Given the description of an element on the screen output the (x, y) to click on. 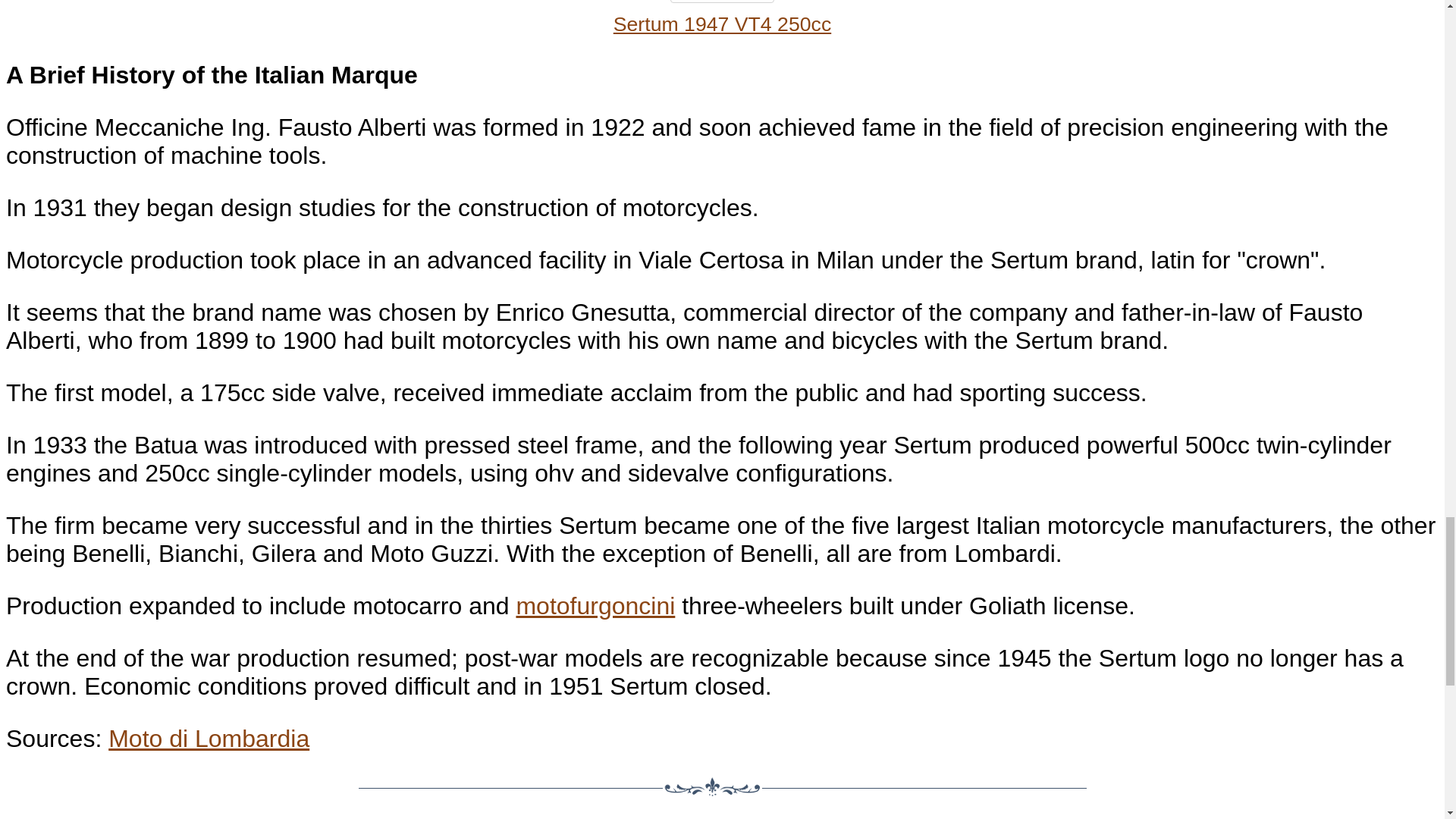
Sertum-1947-VT4-250-PA-1.jpg (721, 1)
Sertum 1947 VT4 250cc (721, 4)
